Given the description of an element on the screen output the (x, y) to click on. 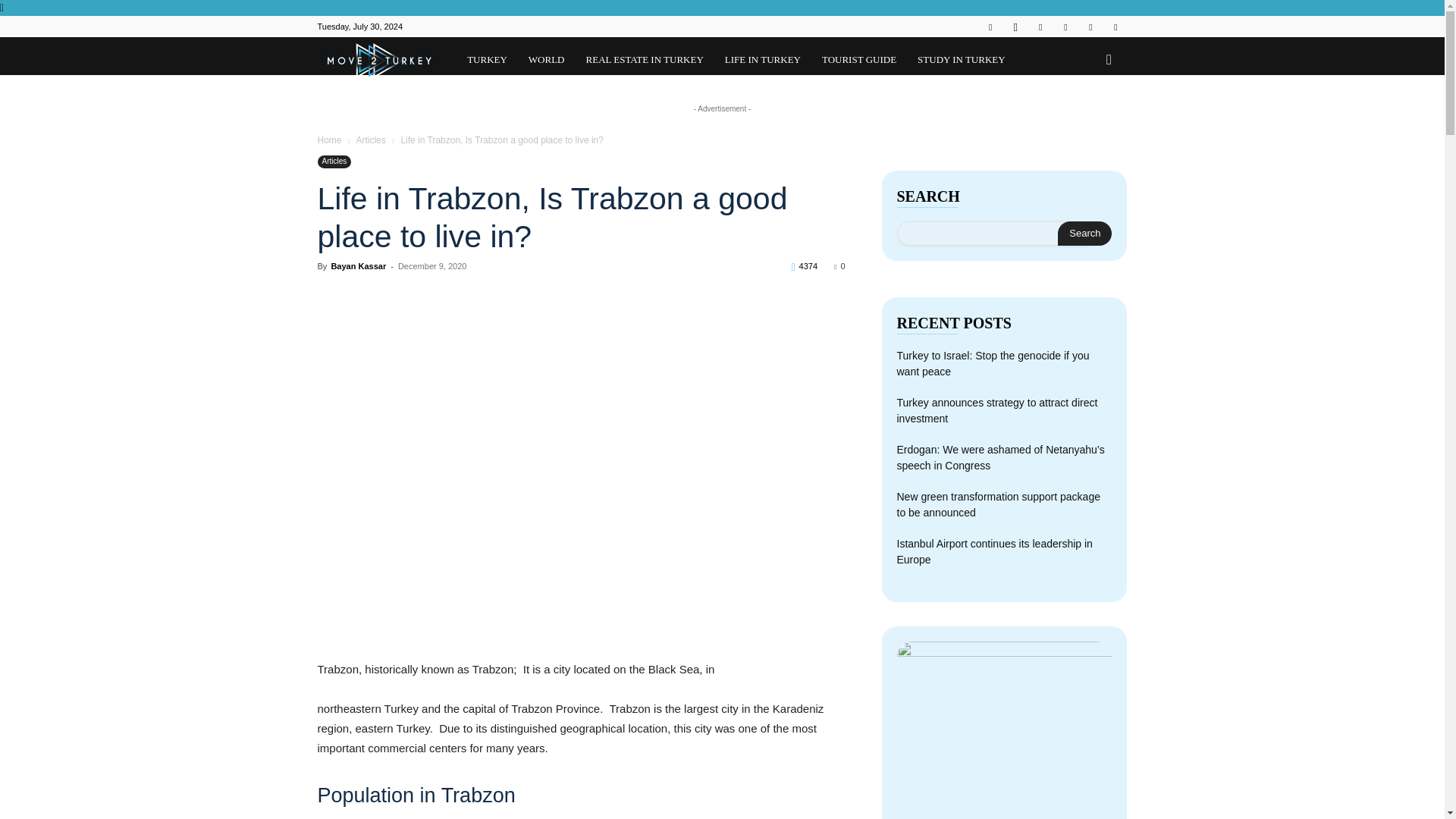
Facebook (989, 25)
Move 2 Turkey (387, 67)
Instagram (1015, 25)
Youtube (1114, 25)
TURKEY (487, 55)
Linkedin (1040, 25)
Twitter (1090, 25)
Pinterest (1065, 25)
Search (1085, 233)
